Given the description of an element on the screen output the (x, y) to click on. 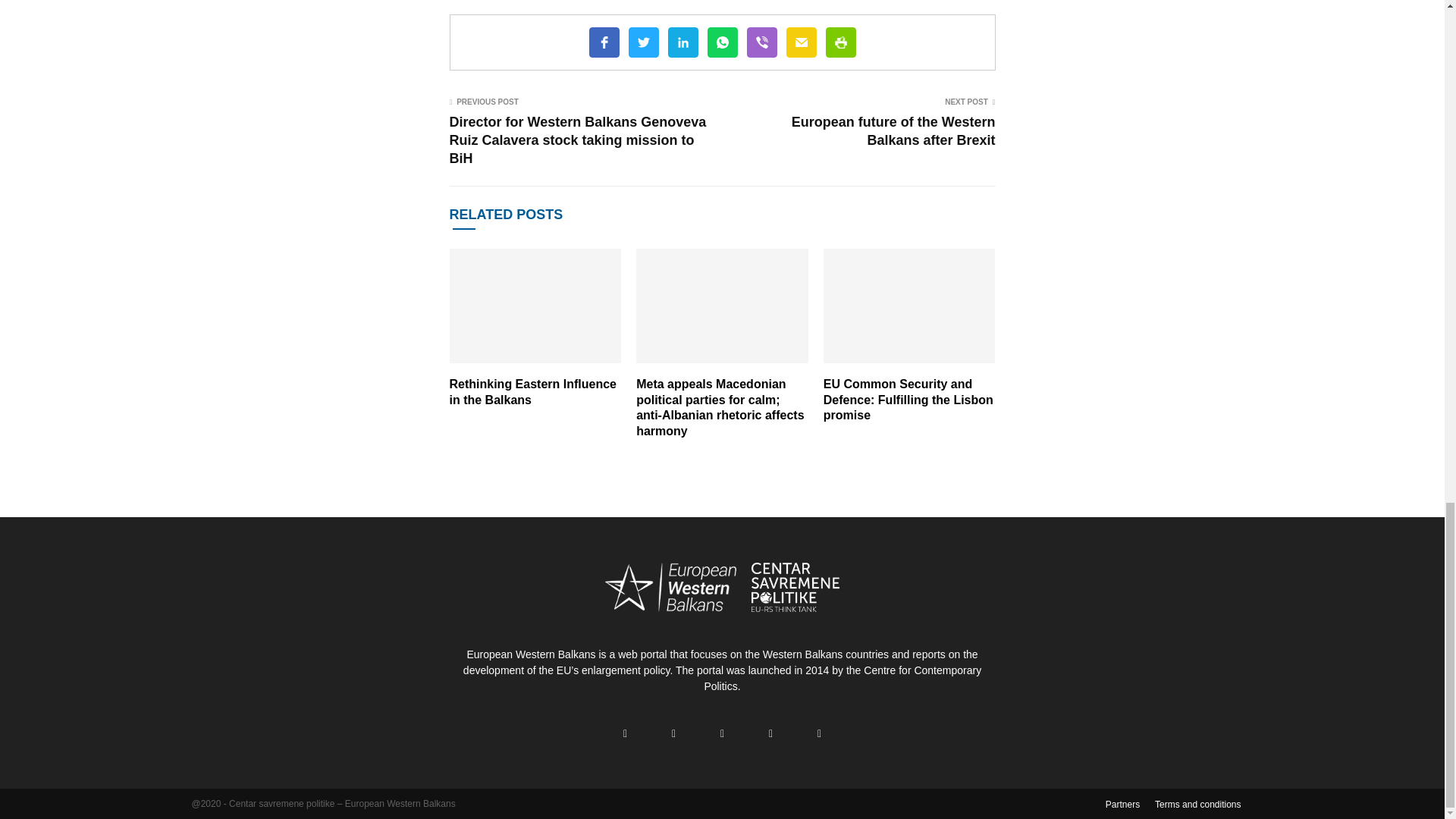
LinkedIn (681, 42)
Twitter (642, 42)
Print (840, 42)
Viber (760, 42)
WhatsApp (721, 42)
Facebook (603, 42)
Email (800, 42)
